Given the description of an element on the screen output the (x, y) to click on. 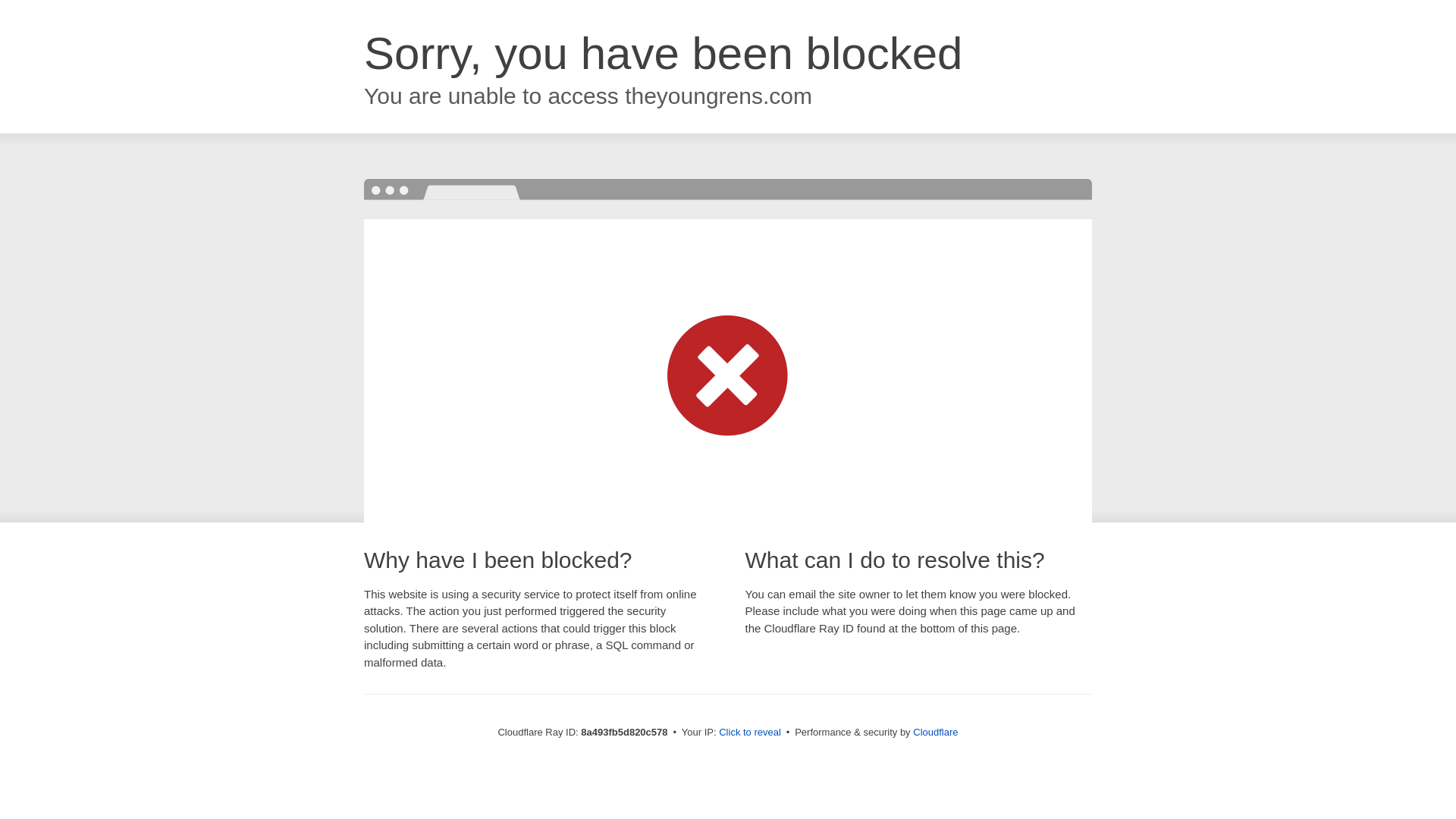
Click to reveal (749, 732)
Cloudflare (935, 731)
